Given the description of an element on the screen output the (x, y) to click on. 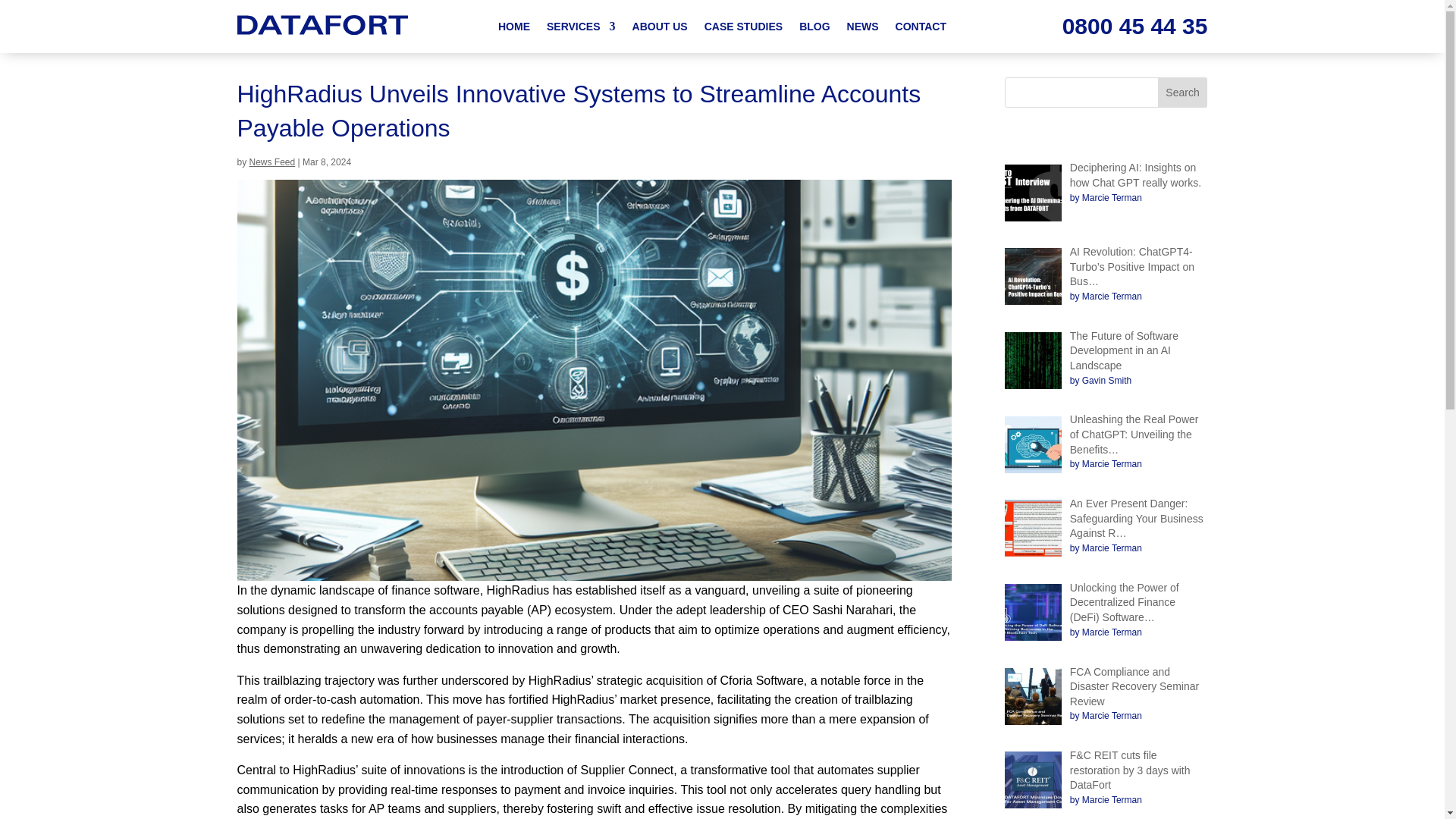
Search (1182, 91)
CONTACT (920, 29)
NEWS (863, 29)
CASE STUDIES (743, 29)
The Future of Software Development in an AI Landscape (1123, 350)
Posts by News Feed (271, 162)
BLOG (814, 29)
Search (1182, 91)
News Feed (271, 162)
FCA Compliance and Disaster Recovery Seminar Review (1134, 686)
Deciphering AI: Insights on how Chat GPT really works. (1135, 175)
SERVICES (581, 29)
HOME (513, 29)
ABOUT US (659, 29)
DATAFORT-blue.logo (321, 25)
